Given the description of an element on the screen output the (x, y) to click on. 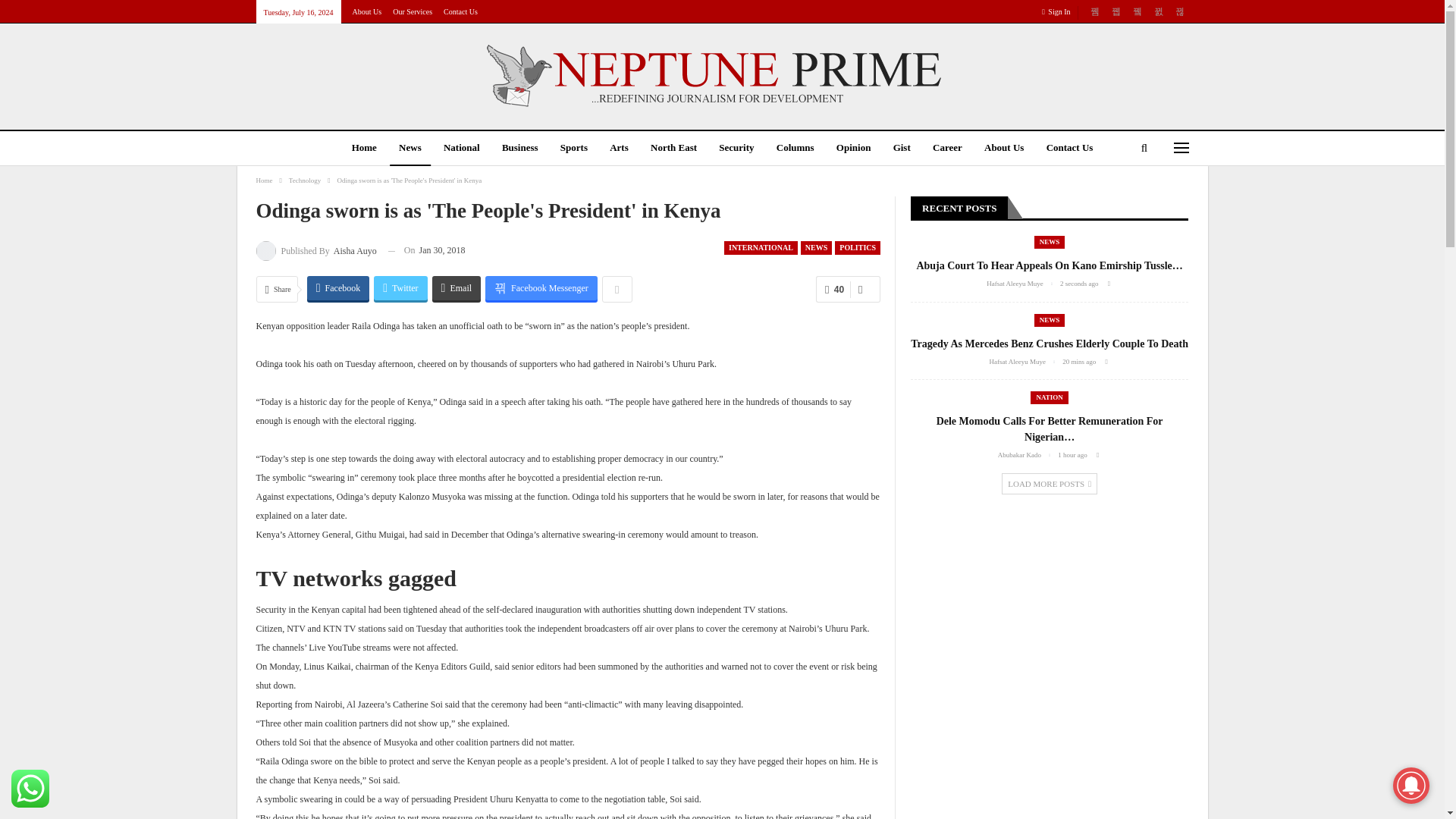
National (461, 149)
About Us (366, 11)
Our Services (412, 11)
Contact Us (460, 11)
News (410, 149)
Arts (618, 149)
Sports (573, 149)
Business (520, 149)
Sign In (1058, 11)
Browse Author Articles (316, 250)
Home (363, 149)
